Given the description of an element on the screen output the (x, y) to click on. 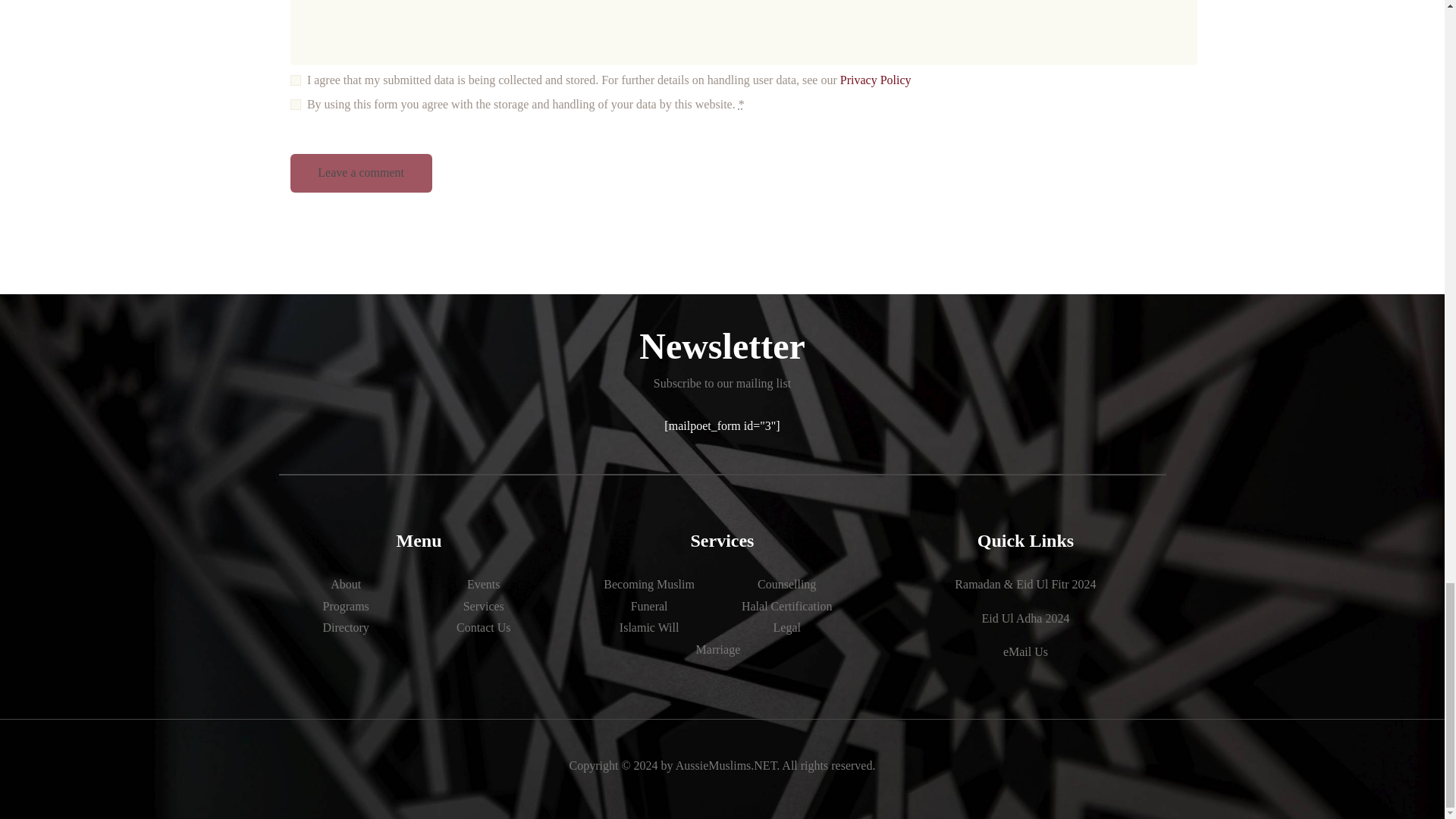
Leave a comment (359, 173)
